Given the description of an element on the screen output the (x, y) to click on. 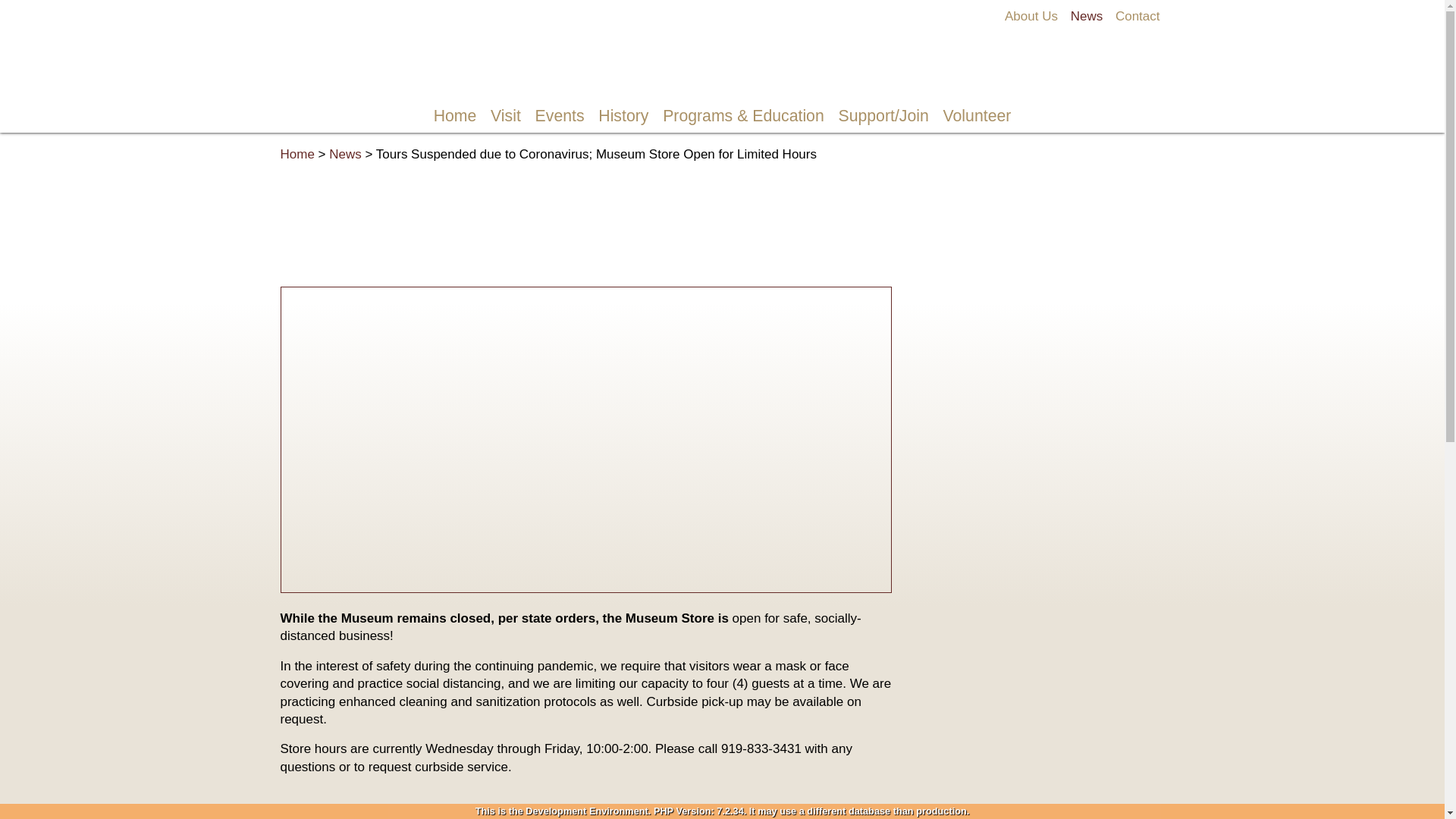
Volunteer (976, 116)
View Message (21, 49)
Visit (504, 116)
Home (454, 116)
Contact (1137, 16)
Events (559, 116)
Joel Lane Museum House (722, 52)
About Us (1031, 16)
History (622, 116)
News (1086, 16)
